Given the description of an element on the screen output the (x, y) to click on. 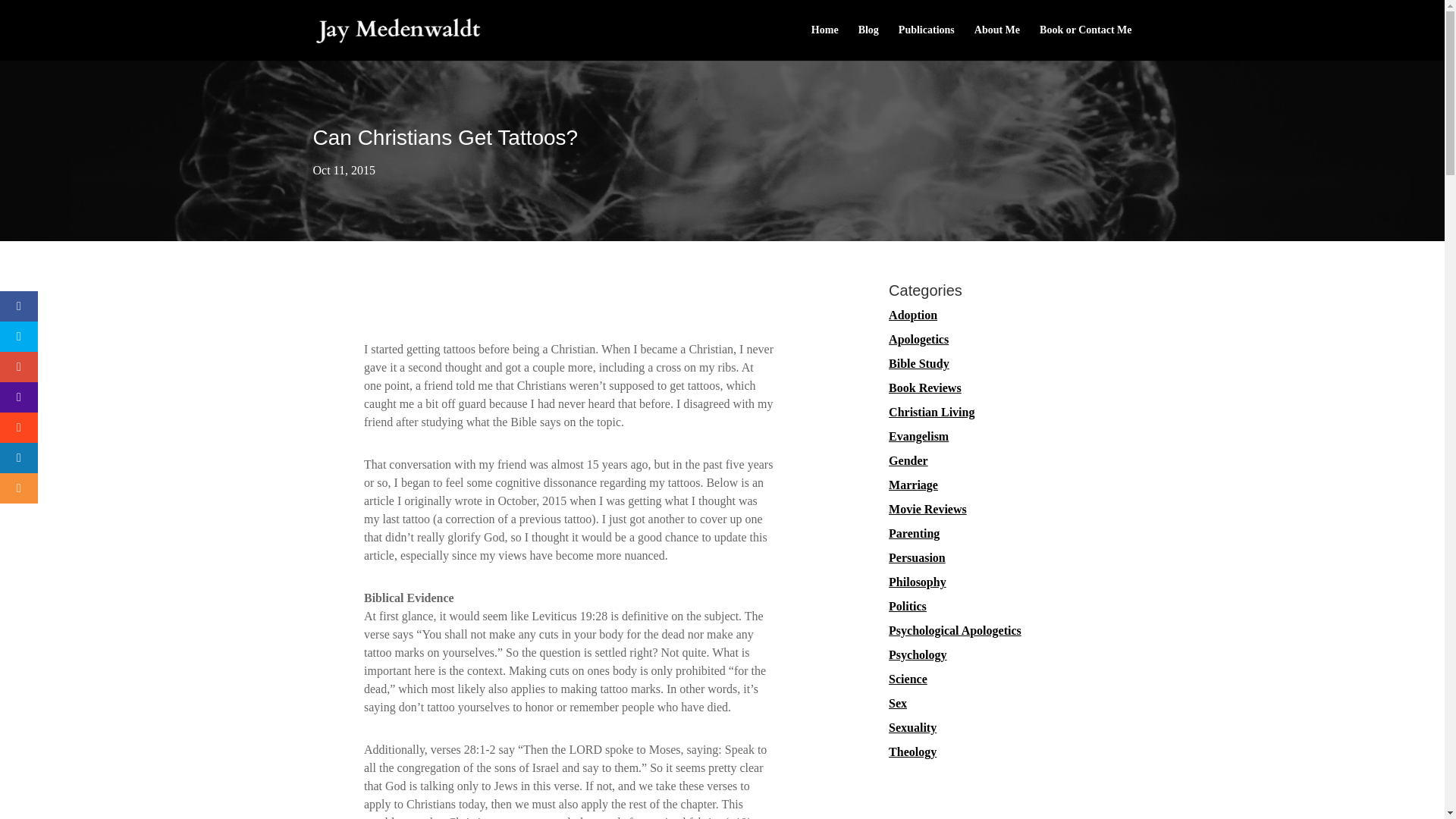
Politics (907, 605)
About Me (997, 42)
Gender (908, 460)
Apologetics (918, 338)
Science (907, 678)
Sex (897, 703)
Marriage (912, 484)
Theology (912, 751)
Persuasion (916, 557)
Psychology (917, 654)
